Given the description of an element on the screen output the (x, y) to click on. 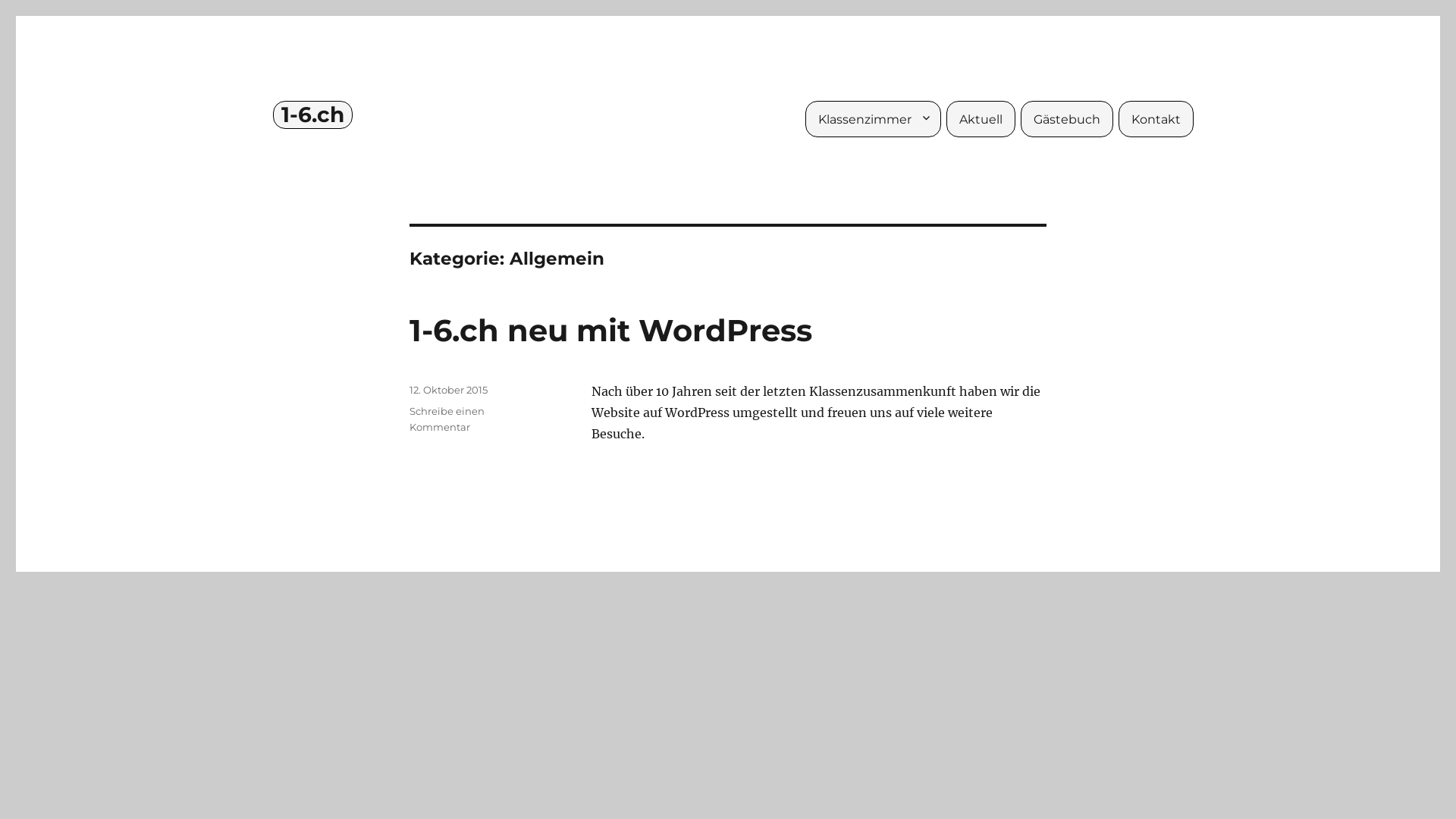
Klassenzimmer Element type: text (872, 118)
1-6.ch neu mit WordPress Element type: text (610, 329)
Kontakt Element type: text (1155, 118)
12. Oktober 2015 Element type: text (448, 389)
Aktuell Element type: text (980, 118)
Schreibe einen Kommentar
zu 1-6.ch neu mit WordPress Element type: text (446, 418)
1-6.ch Element type: text (312, 114)
